Given the description of an element on the screen output the (x, y) to click on. 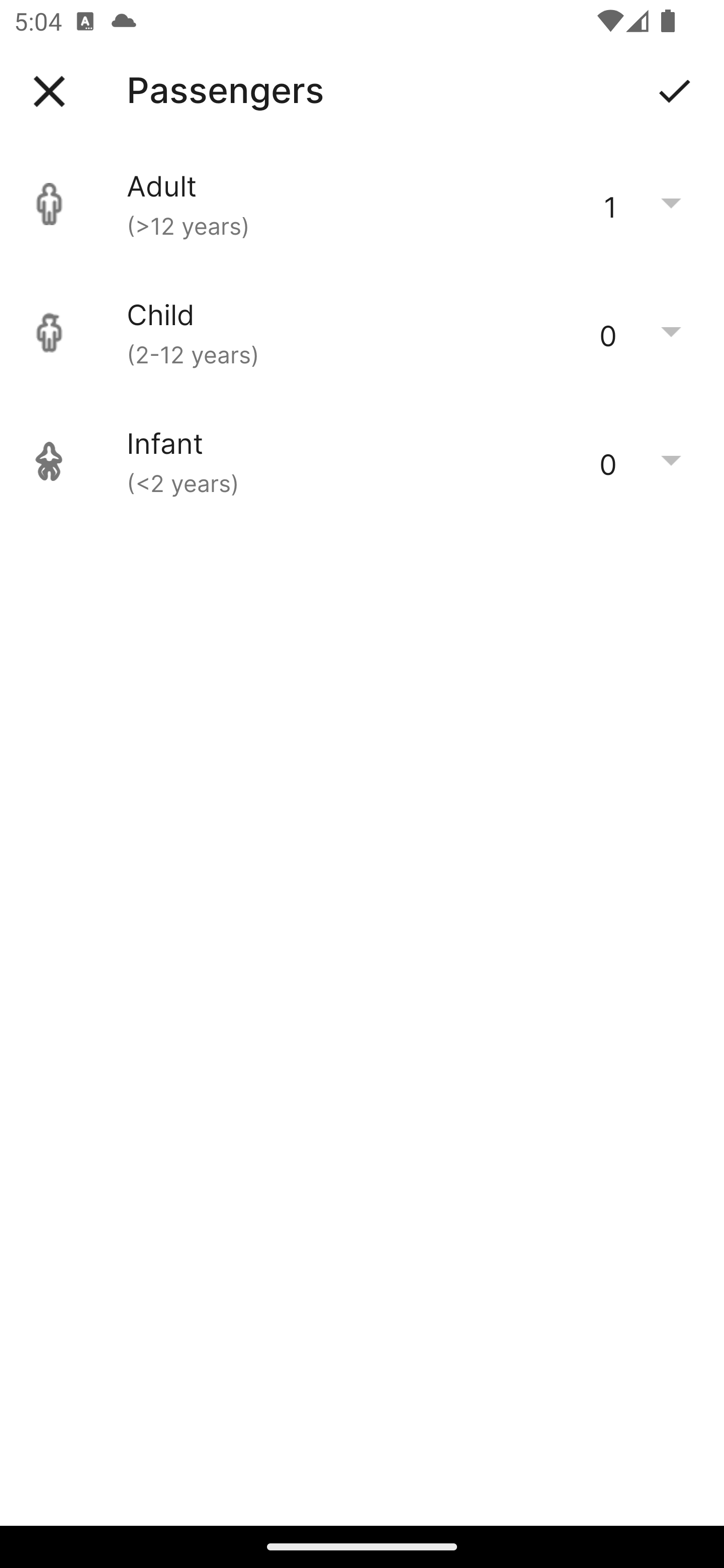
Adult (>12 years) 1 (362, 204)
Child (2-12 years) 0 (362, 332)
Infant (<2 years) 0 (362, 461)
